Given the description of an element on the screen output the (x, y) to click on. 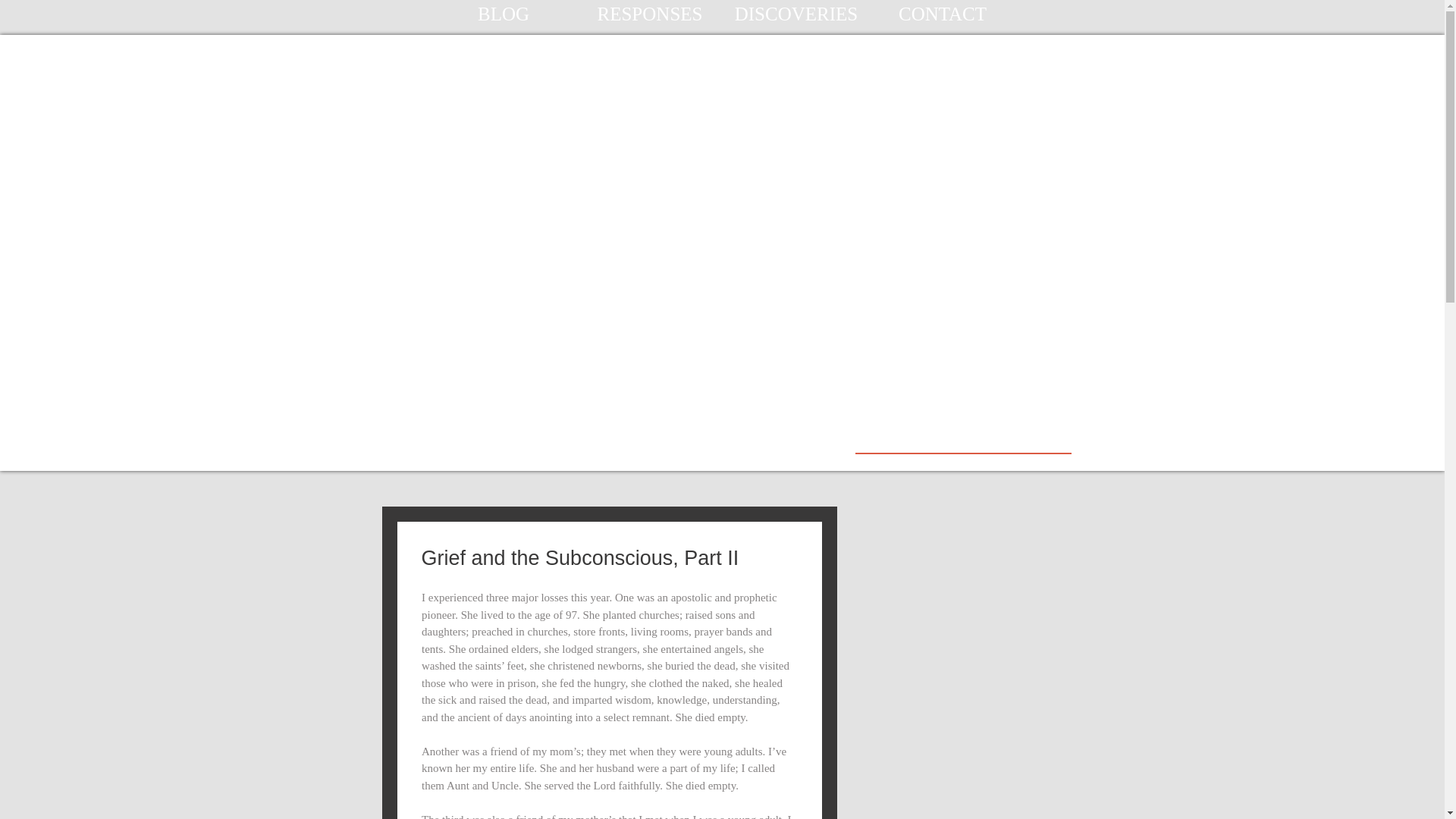
DISCOVERIES (796, 14)
CONTACT (941, 14)
RESPONSES (649, 14)
BLOG (503, 14)
